Given the description of an element on the screen output the (x, y) to click on. 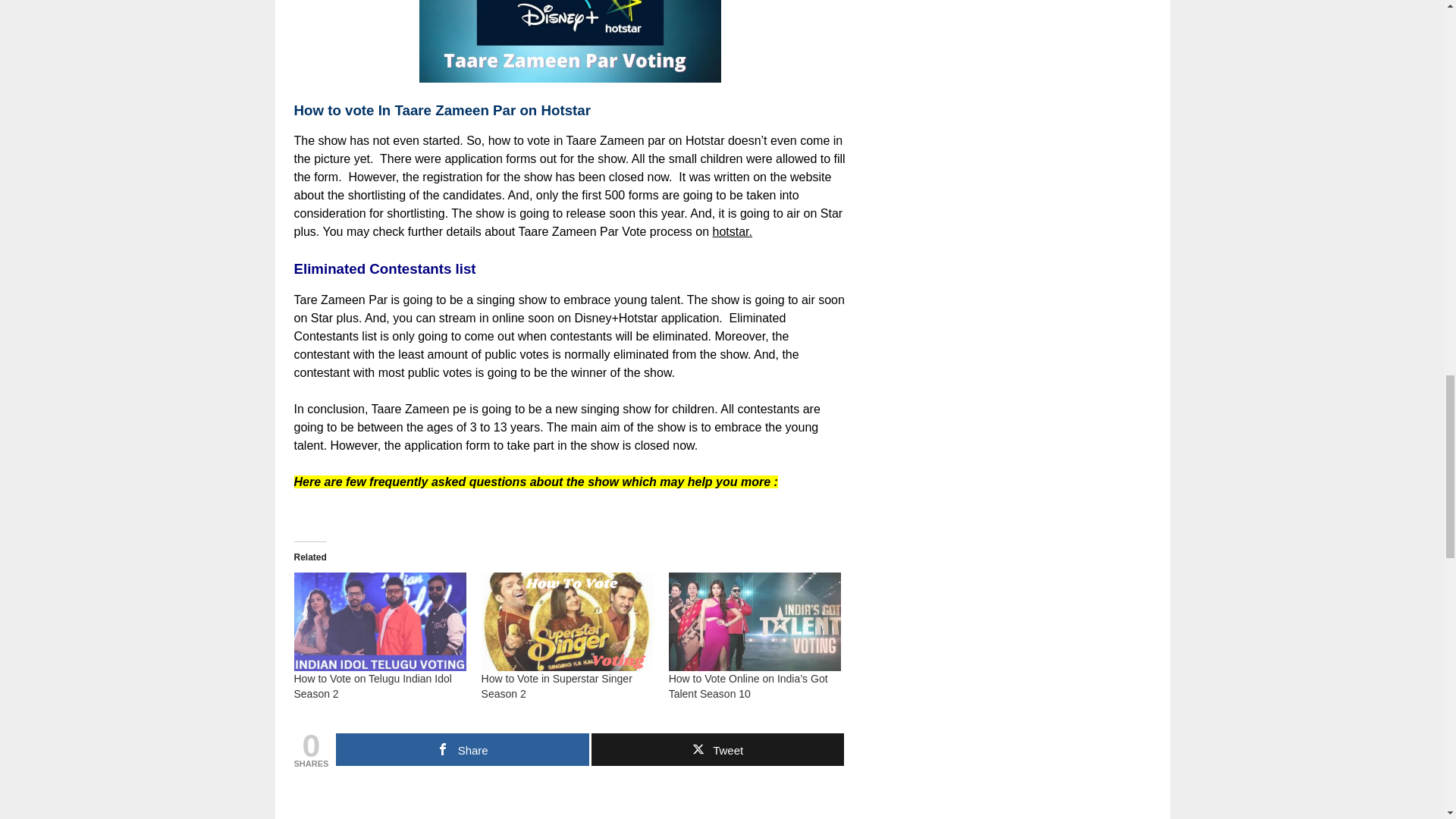
Tweet (717, 749)
How to Vote in Superstar Singer Season 2 (556, 686)
Share (462, 749)
How to Vote on Telugu Indian Idol Season 2 (379, 621)
How to Vote on Telugu Indian Idol Season 2 (372, 686)
hotstar. (732, 231)
How to Vote on Telugu Indian Idol Season 2 (372, 686)
How to Vote in Superstar Singer Season 2 (556, 686)
How to Vote in Superstar Singer Season 2 (567, 621)
